Given the description of an element on the screen output the (x, y) to click on. 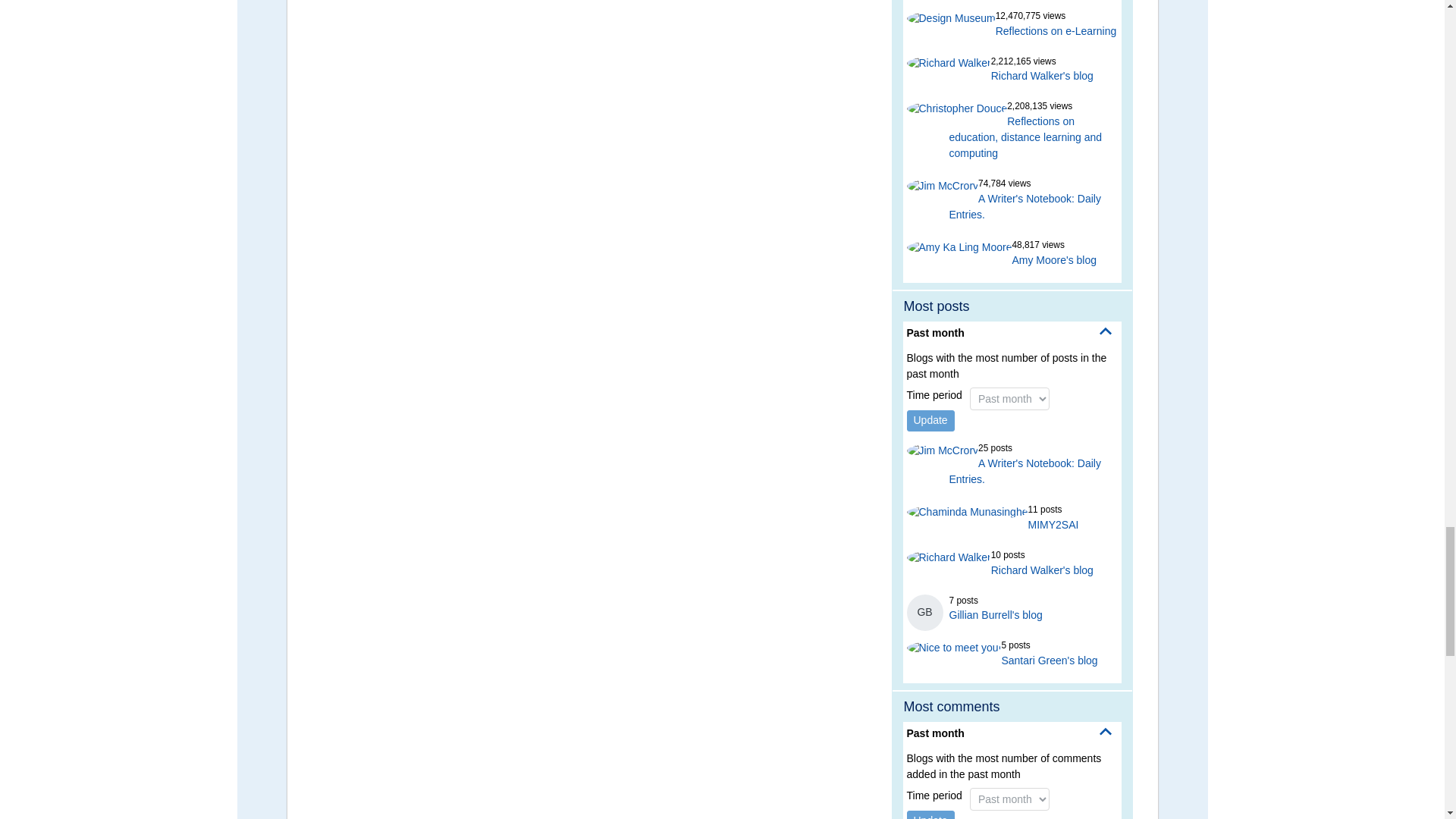
Update (931, 814)
Update (931, 420)
Design Museum (951, 18)
